Given the description of an element on the screen output the (x, y) to click on. 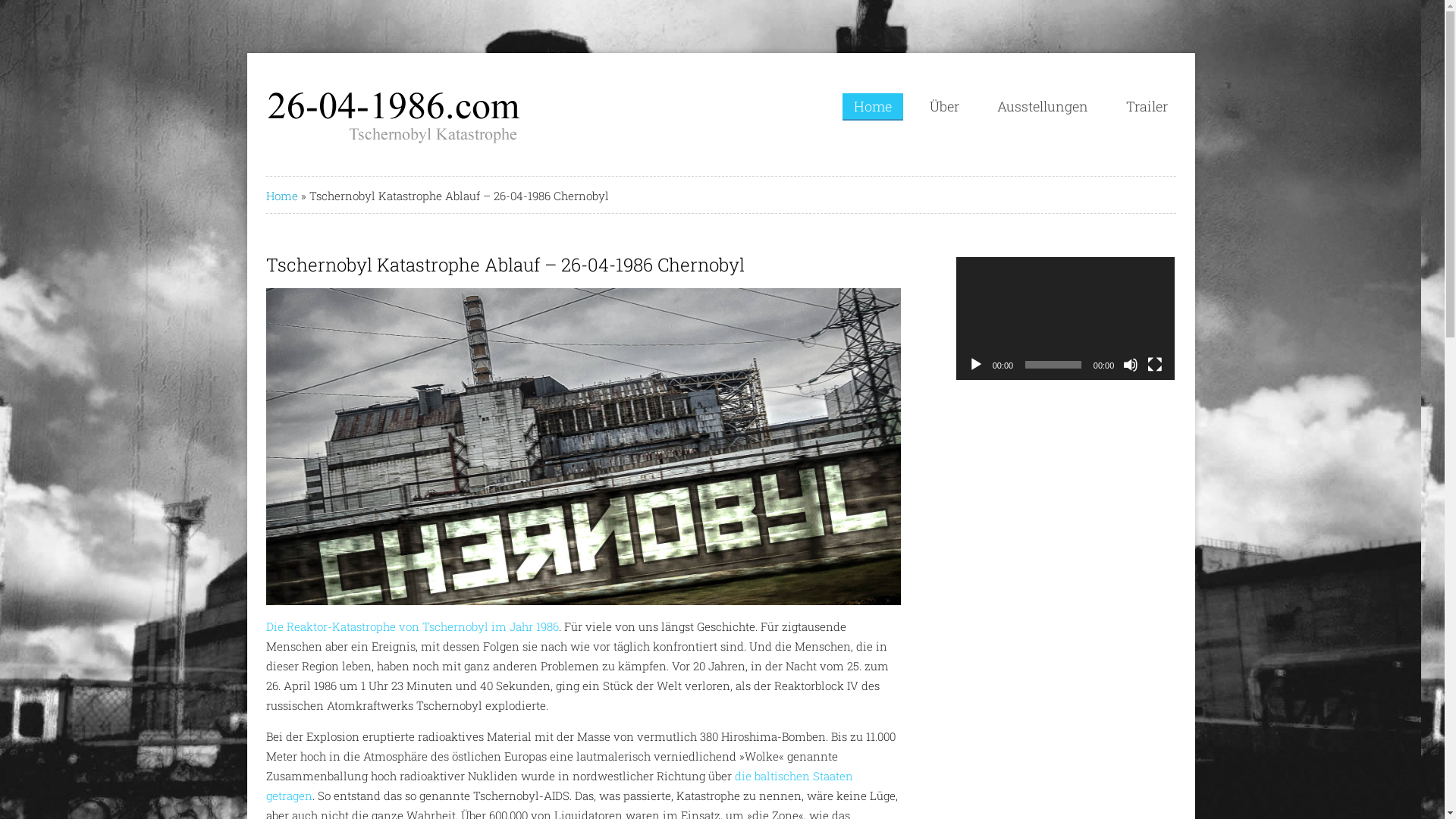
Ausstellungen Element type: text (1042, 106)
Die Reaktor-Katastrophe von Tschernobyl im Jahr 1986 Element type: text (412, 625)
Home Element type: text (282, 195)
die baltischen Staaten getragen Element type: text (559, 785)
Home Element type: text (872, 106)
Play Element type: hover (975, 364)
Fullscreen Element type: hover (1154, 364)
Trailer Element type: text (1146, 106)
Mute Element type: hover (1130, 364)
